Given the description of an element on the screen output the (x, y) to click on. 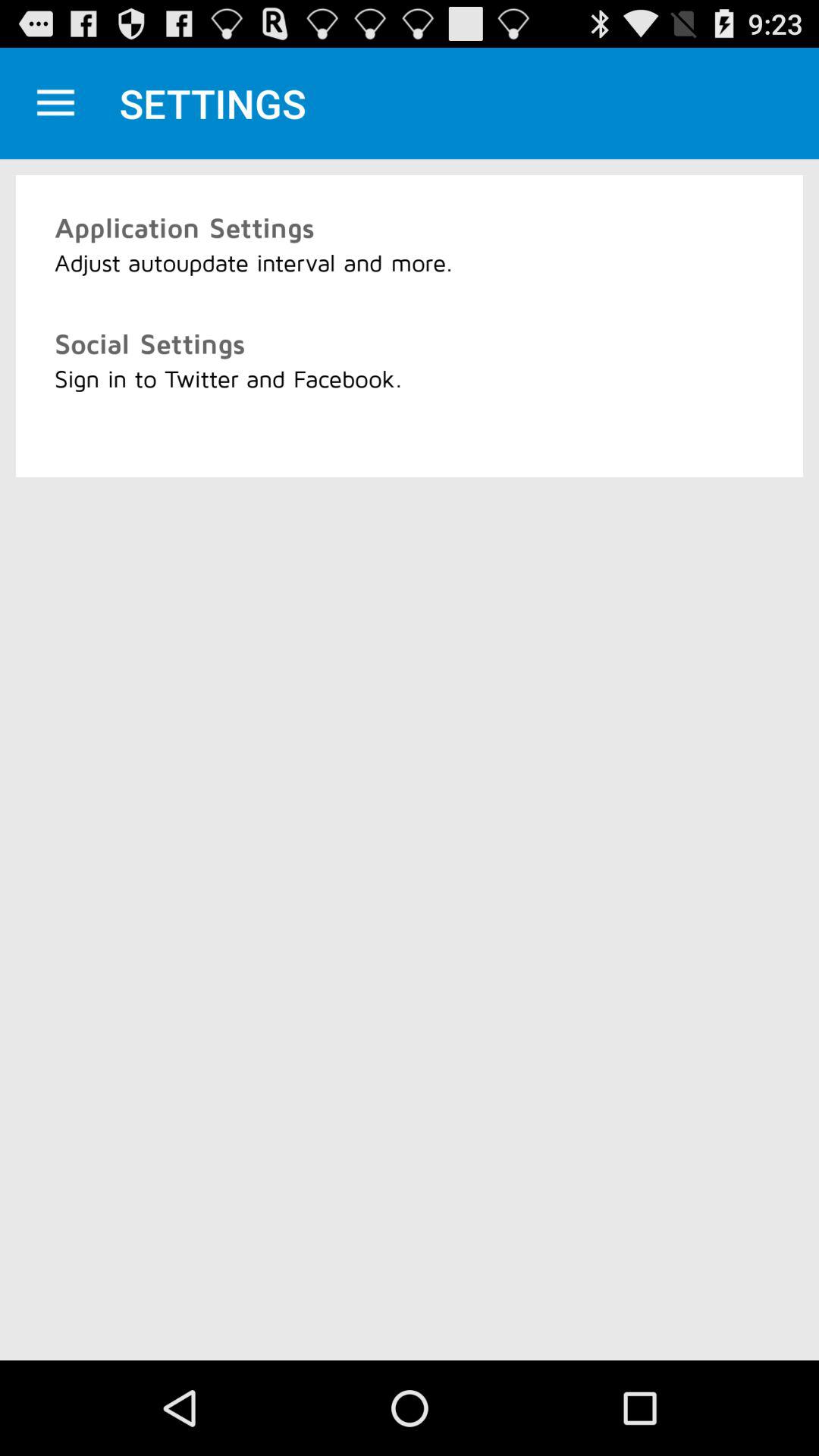
press app next to settings item (55, 103)
